Given the description of an element on the screen output the (x, y) to click on. 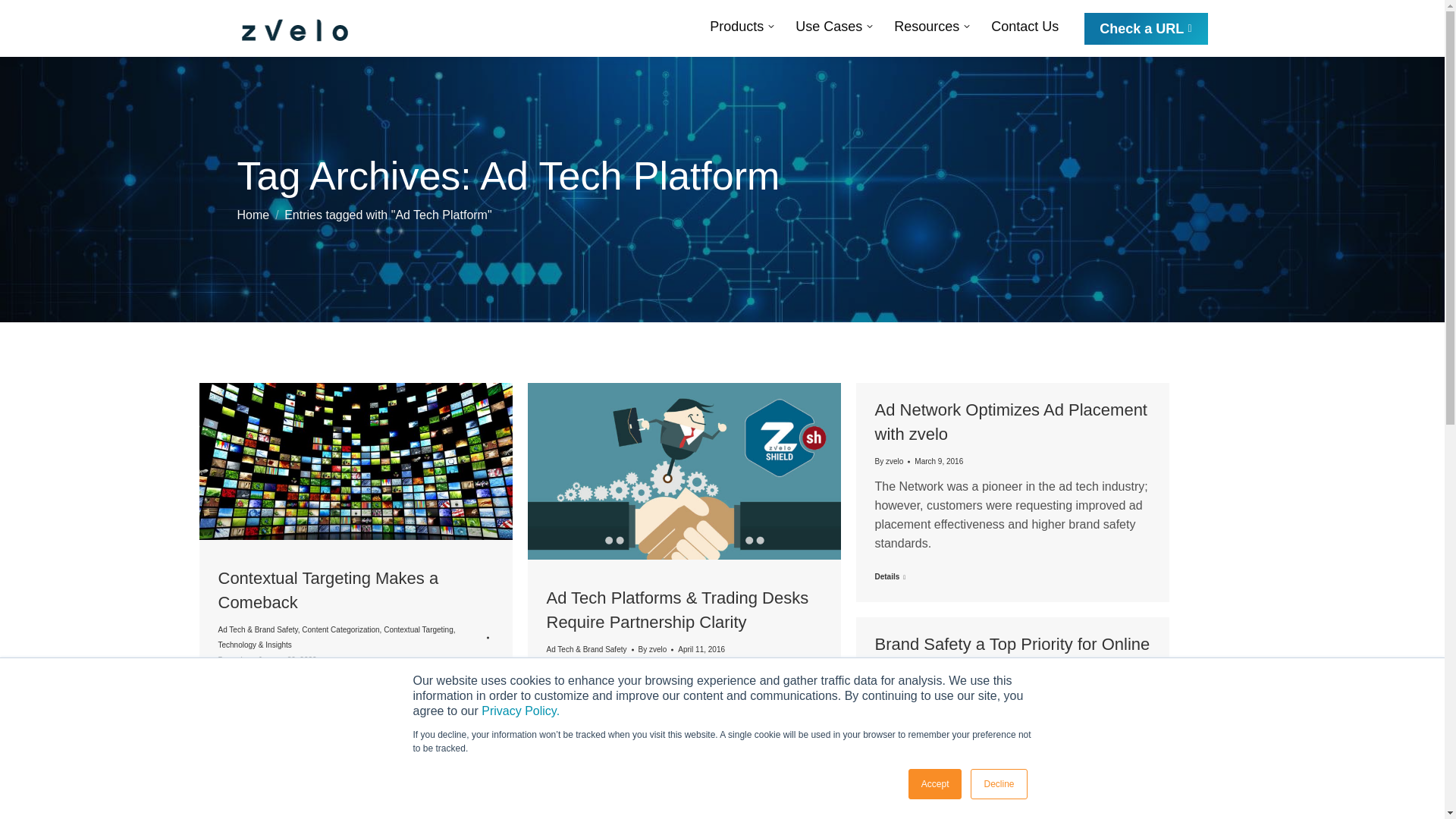
Decline (998, 784)
Check a URL (1145, 28)
Contact Us (1024, 26)
Use Cases (834, 26)
Resources (931, 26)
View all posts by zvelo (235, 659)
Home (252, 214)
Ad Network Optimizes Ad Placement with zvelo (1011, 421)
Products (741, 26)
contextual-targeting-comeback-ad-tech (355, 461)
